Given the description of an element on the screen output the (x, y) to click on. 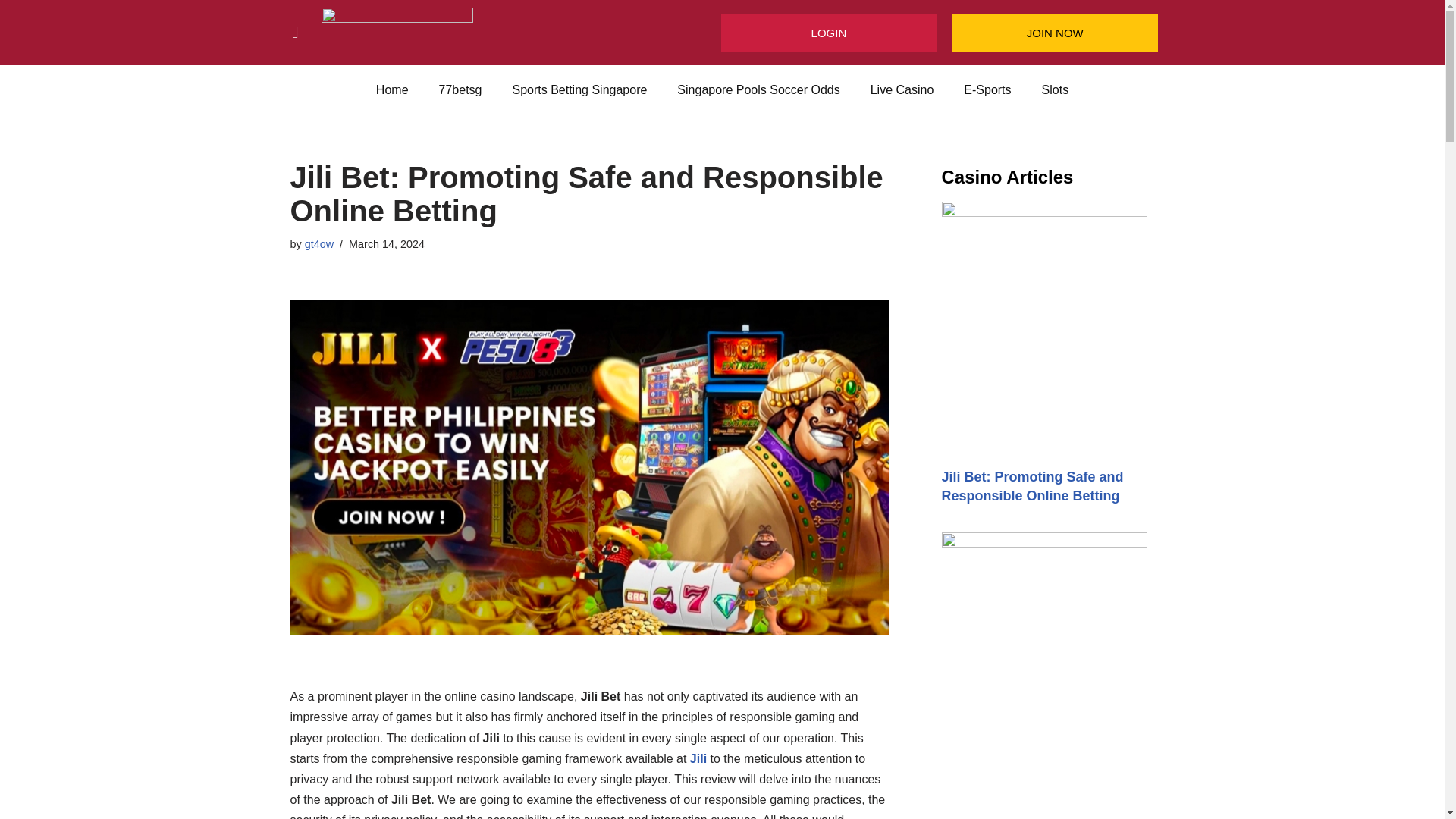
JOIN NOW (1055, 32)
Sports Betting Singapore (579, 89)
77betsg (460, 89)
Jili (700, 758)
Live Casino (902, 89)
Home (392, 89)
gt4ow (318, 244)
E-Sports (987, 89)
Skip to content (11, 31)
Posts by gt4ow (318, 244)
Slots (1055, 89)
LOGIN (828, 32)
Jili Bet: Promoting Safe and Responsible Online Betting (1033, 486)
Singapore Pools Soccer Odds (758, 89)
